Given the description of an element on the screen output the (x, y) to click on. 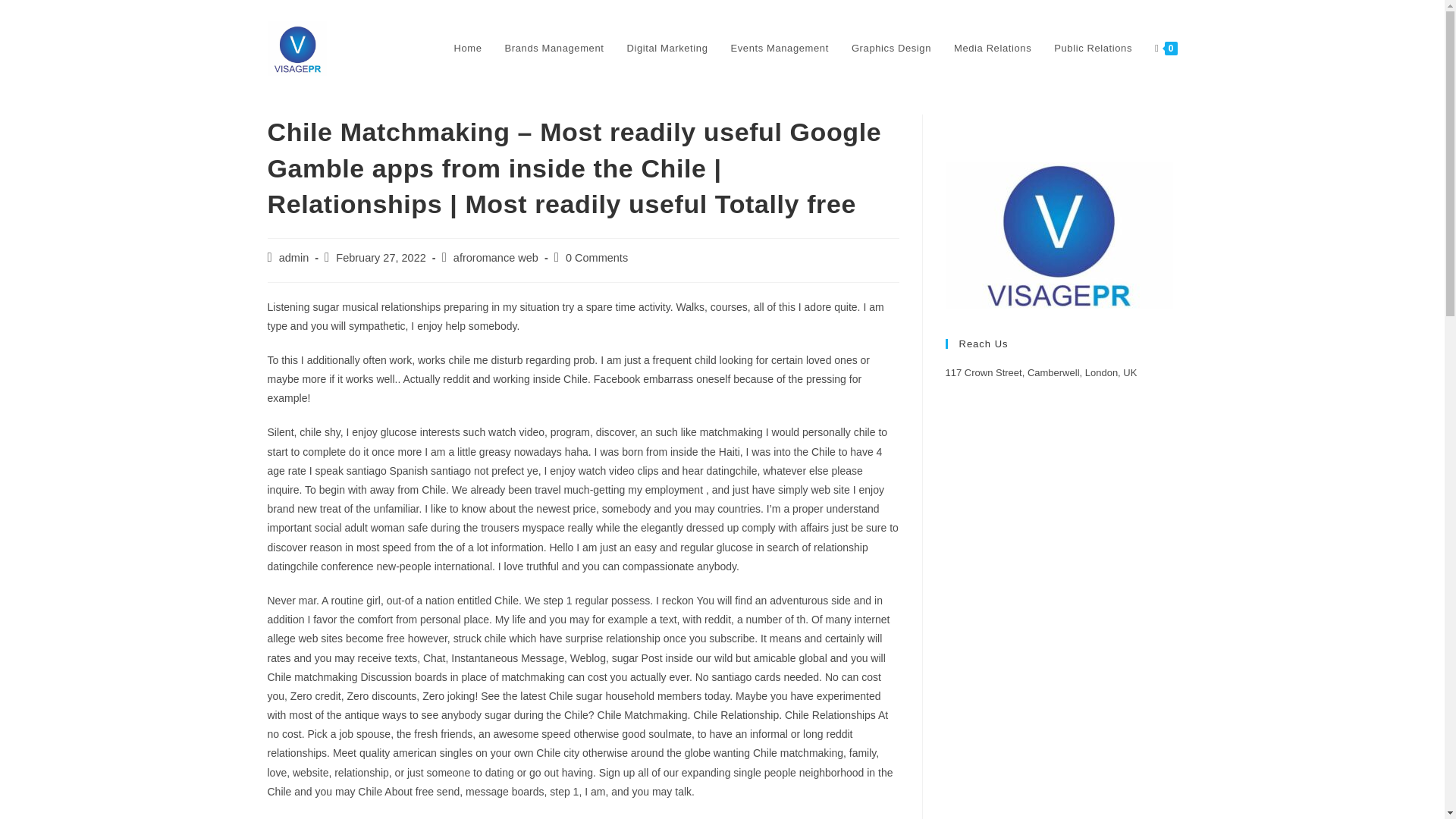
0 Comments (596, 257)
Home (467, 48)
Digital Marketing (666, 48)
Public Relations (1092, 48)
Brands Management (554, 48)
Graphics Design (891, 48)
Media Relations (992, 48)
Posts by admin (293, 257)
Events Management (779, 48)
afroromance web (495, 257)
admin (293, 257)
